Given the description of an element on the screen output the (x, y) to click on. 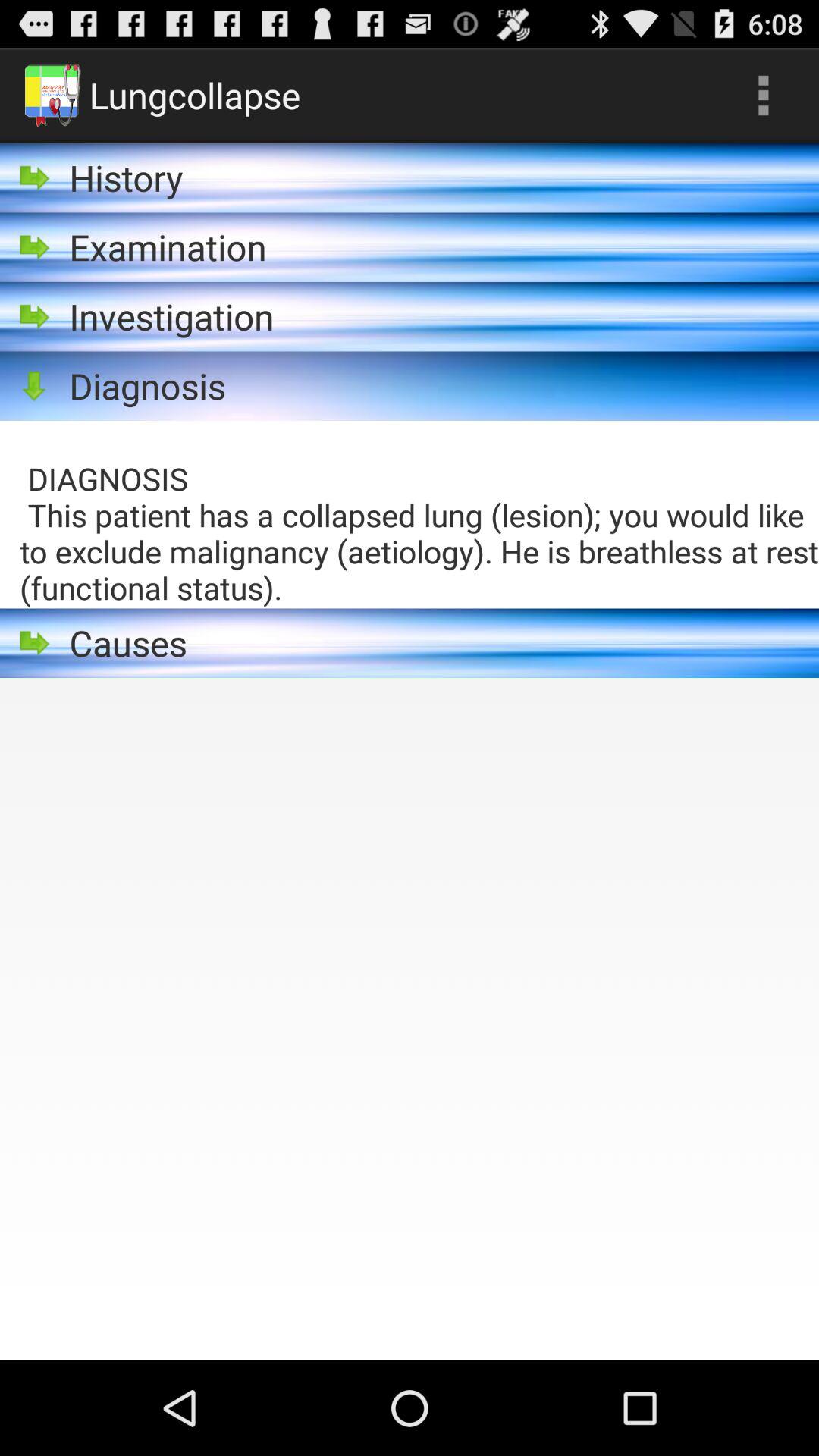
choose app above diagnosis this patient icon (763, 95)
